Given the description of an element on the screen output the (x, y) to click on. 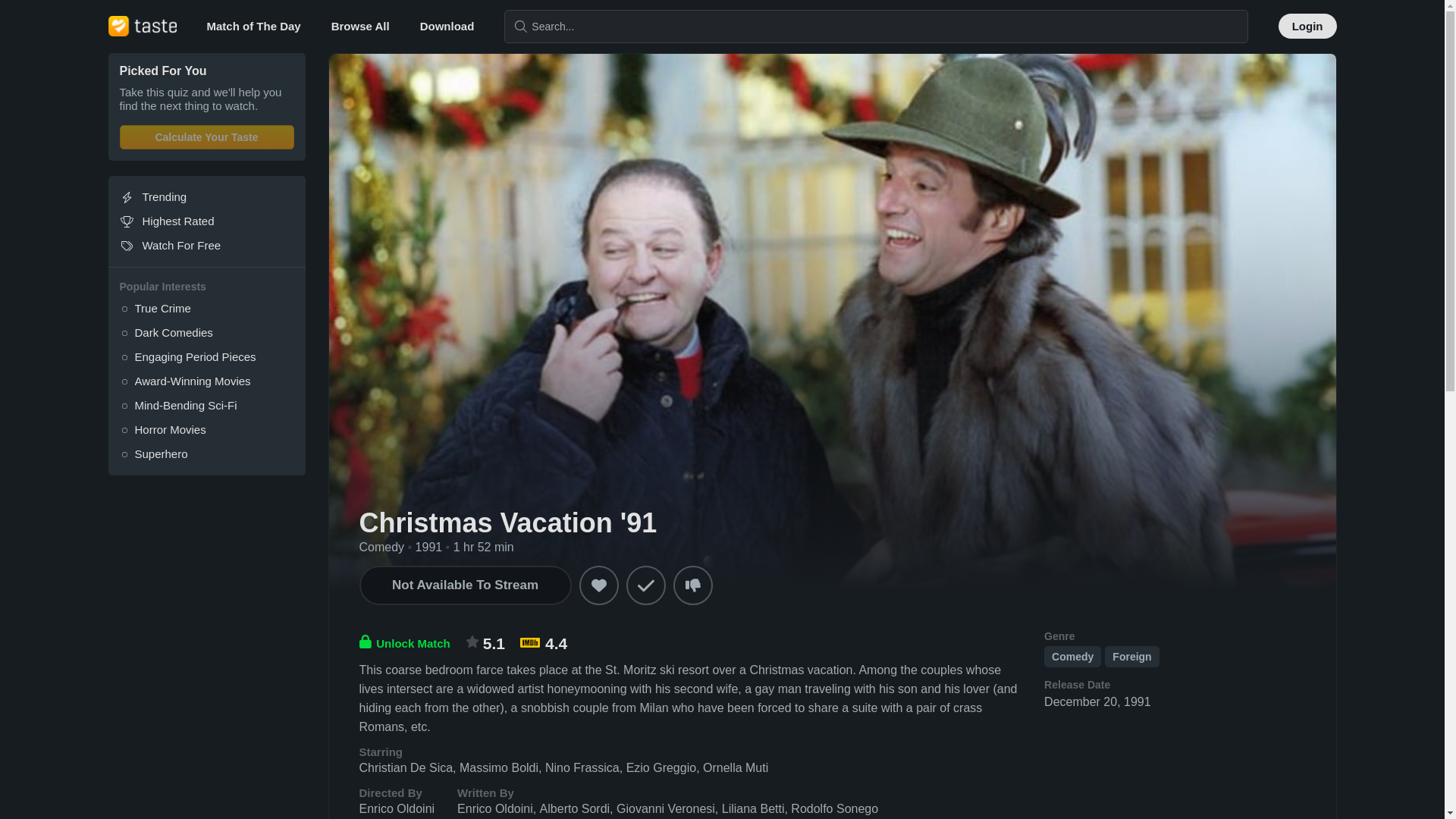
Award-Winning Movies (205, 381)
Not Available To Stream (465, 585)
Engaging Period Pieces (205, 356)
True Crime (205, 308)
Download (447, 26)
Browse All (360, 26)
Calculate Your Taste (206, 137)
Superhero (205, 454)
Mind-Bending Sci-Fi (205, 405)
Login (1307, 25)
Horror Movies (205, 429)
Dark Comedies (205, 332)
Trending (205, 197)
Watch For Free (205, 245)
Christian De Sica (405, 767)
